Given the description of an element on the screen output the (x, y) to click on. 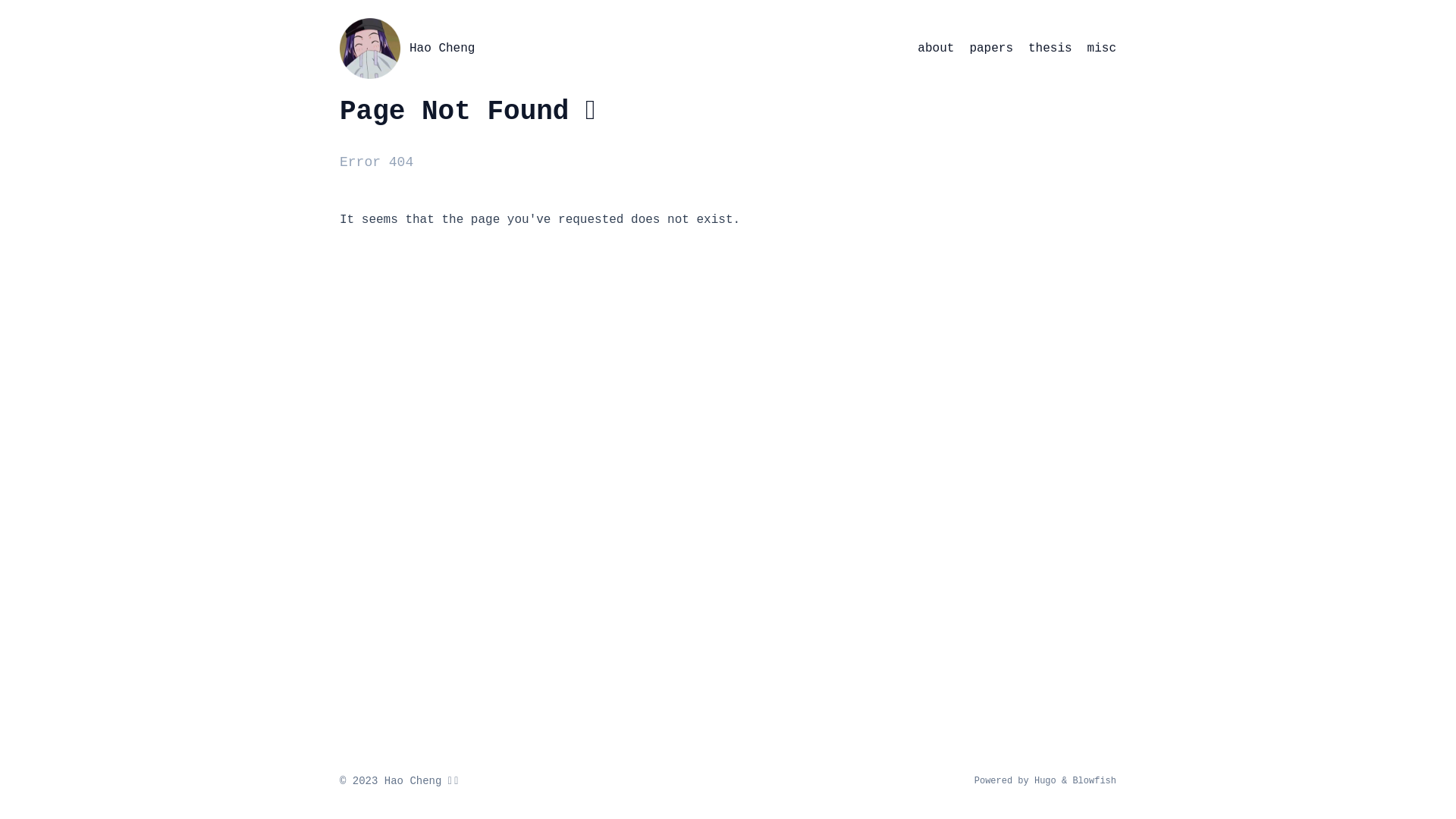
about Element type: text (935, 48)
thesis Element type: text (1050, 48)
misc Element type: text (1101, 48)
Hugo Element type: text (1045, 780)
Hao Cheng Element type: text (441, 48)
papers Element type: text (991, 48)
Hao Cheng Element type: text (369, 48)
Blowfish Element type: text (1094, 780)
